Given the description of an element on the screen output the (x, y) to click on. 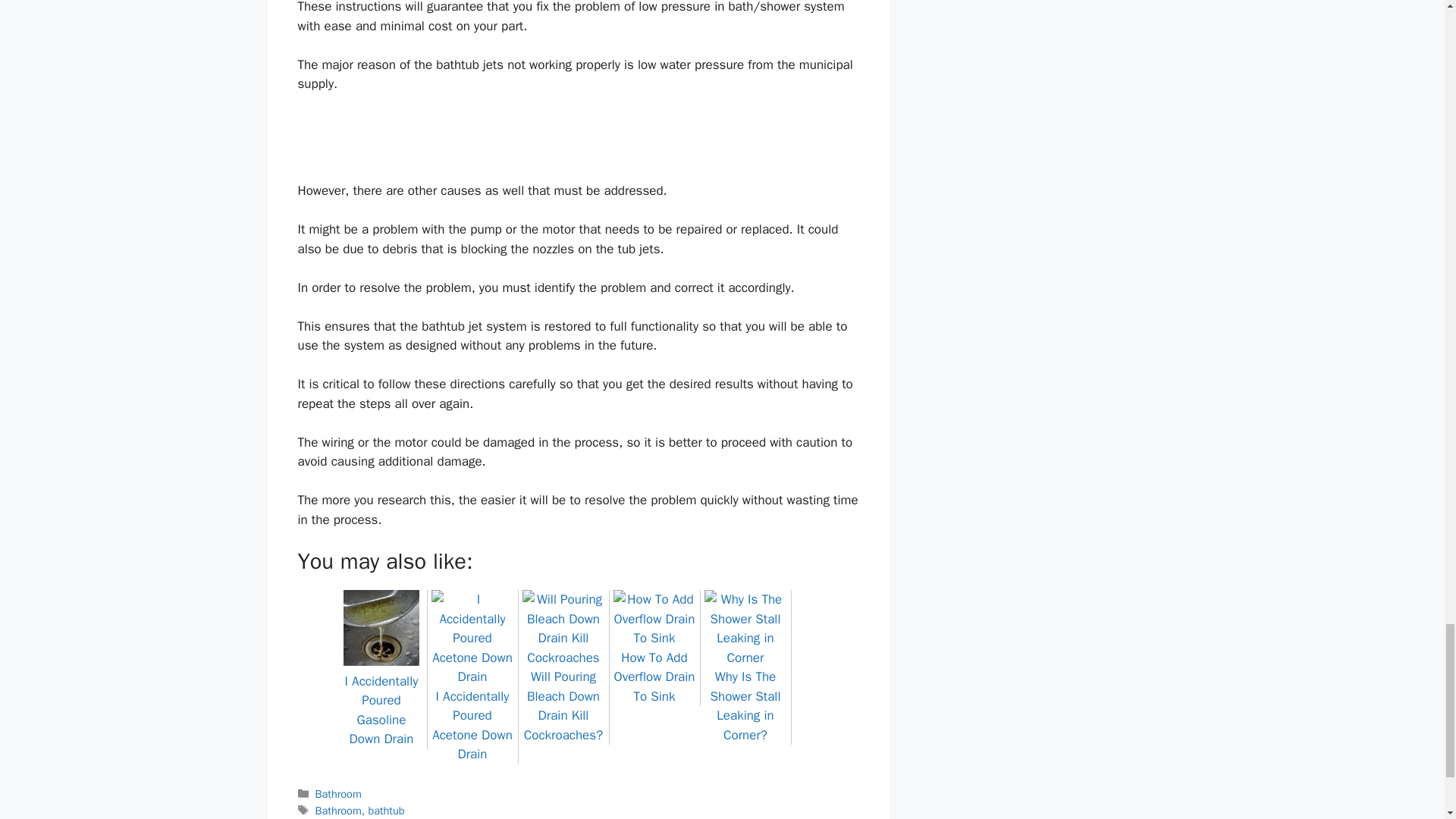
Bathroom (338, 810)
Bathroom (338, 793)
bathtub (386, 810)
How To Add Overflow Drain To Sink (653, 666)
